Given the description of an element on the screen output the (x, y) to click on. 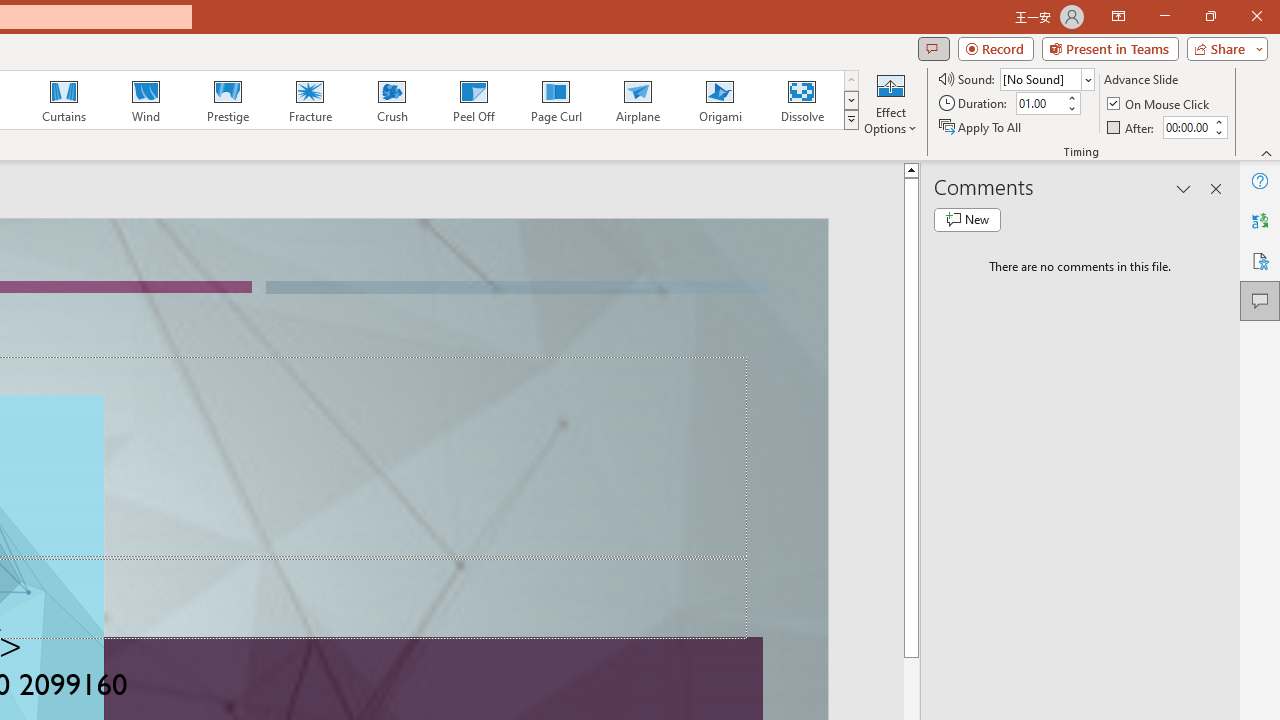
Close pane (1215, 188)
On Mouse Click (1159, 103)
Crush (391, 100)
Collapse the Ribbon (1267, 152)
Row Down (850, 100)
Accessibility (1260, 260)
Airplane (637, 100)
Restore Down (1210, 16)
Wind (145, 100)
Close (1256, 16)
After (1186, 127)
